Given the description of an element on the screen output the (x, y) to click on. 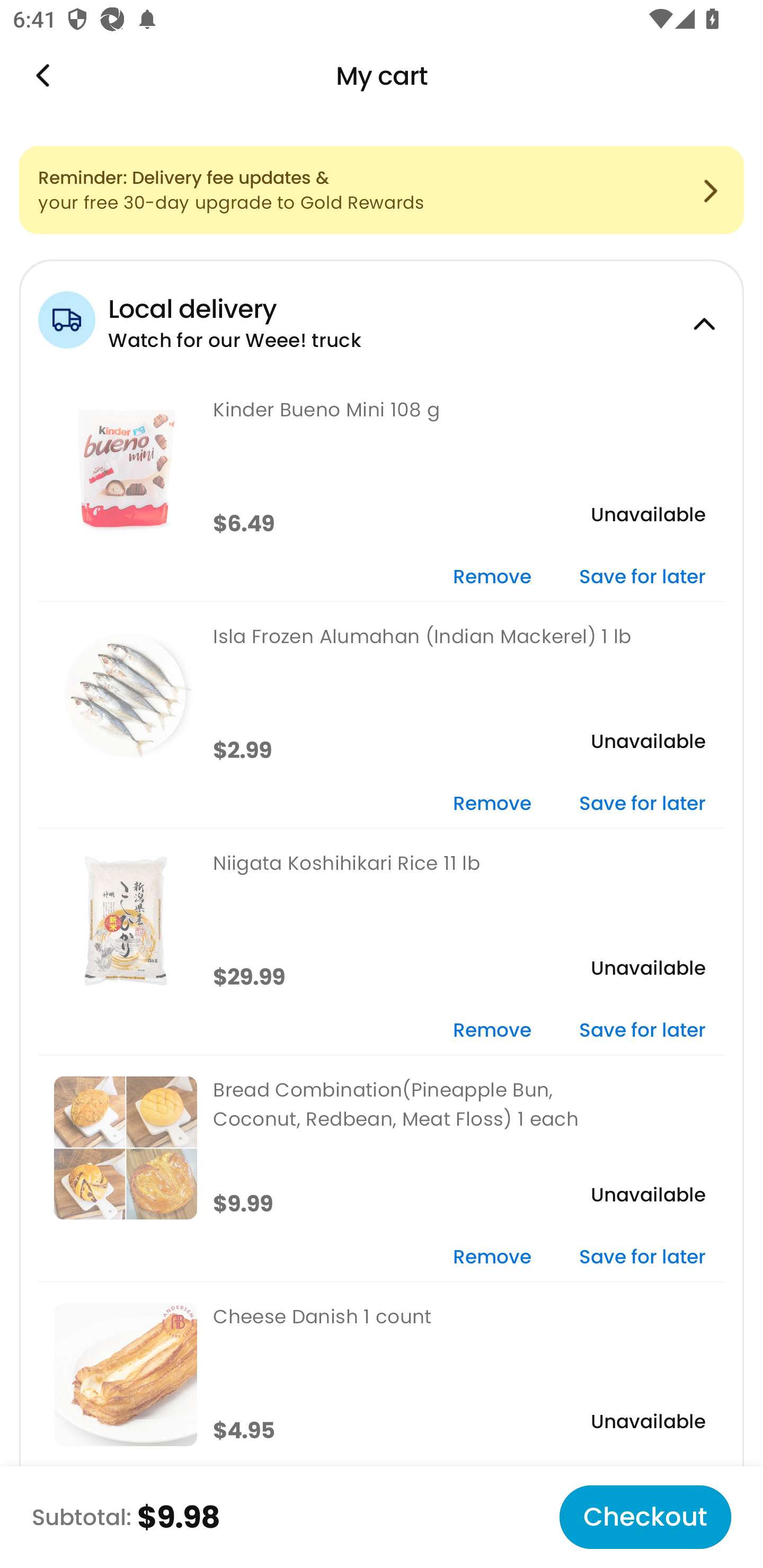
Local delivery Watch for our Weee! truck (381, 317)
Remove (491, 577)
Save for later (642, 577)
Remove (491, 804)
Save for later (642, 804)
Remove (491, 1030)
Save for later (642, 1030)
Remove (491, 1258)
Save for later (642, 1258)
Checkout (644, 1516)
